Given the description of an element on the screen output the (x, y) to click on. 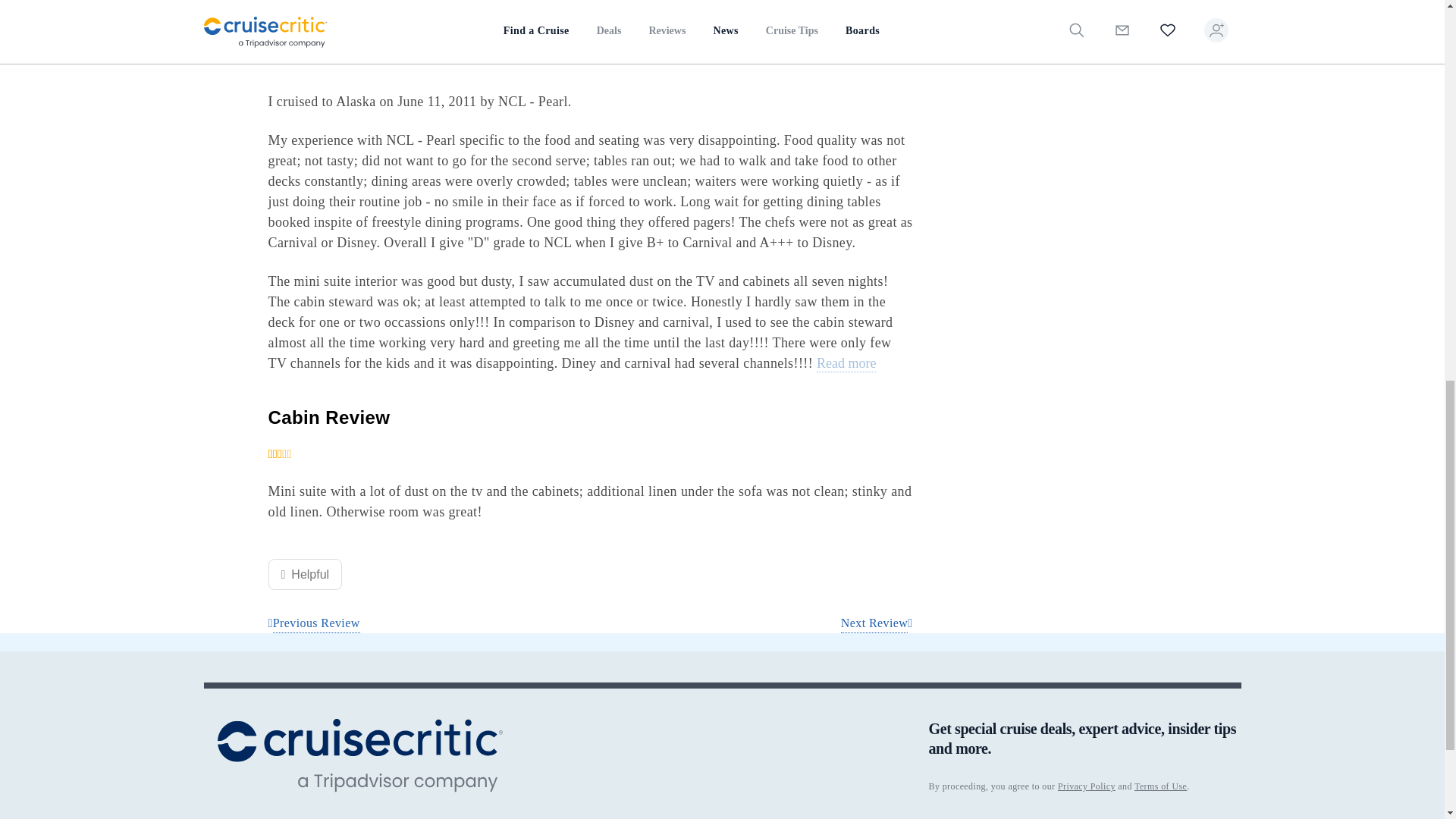
Privacy Policy (1086, 786)
Previous Review (313, 623)
Next Review (876, 623)
Helpful (304, 573)
Terms of Use (1160, 786)
Read more (846, 363)
